Given the description of an element on the screen output the (x, y) to click on. 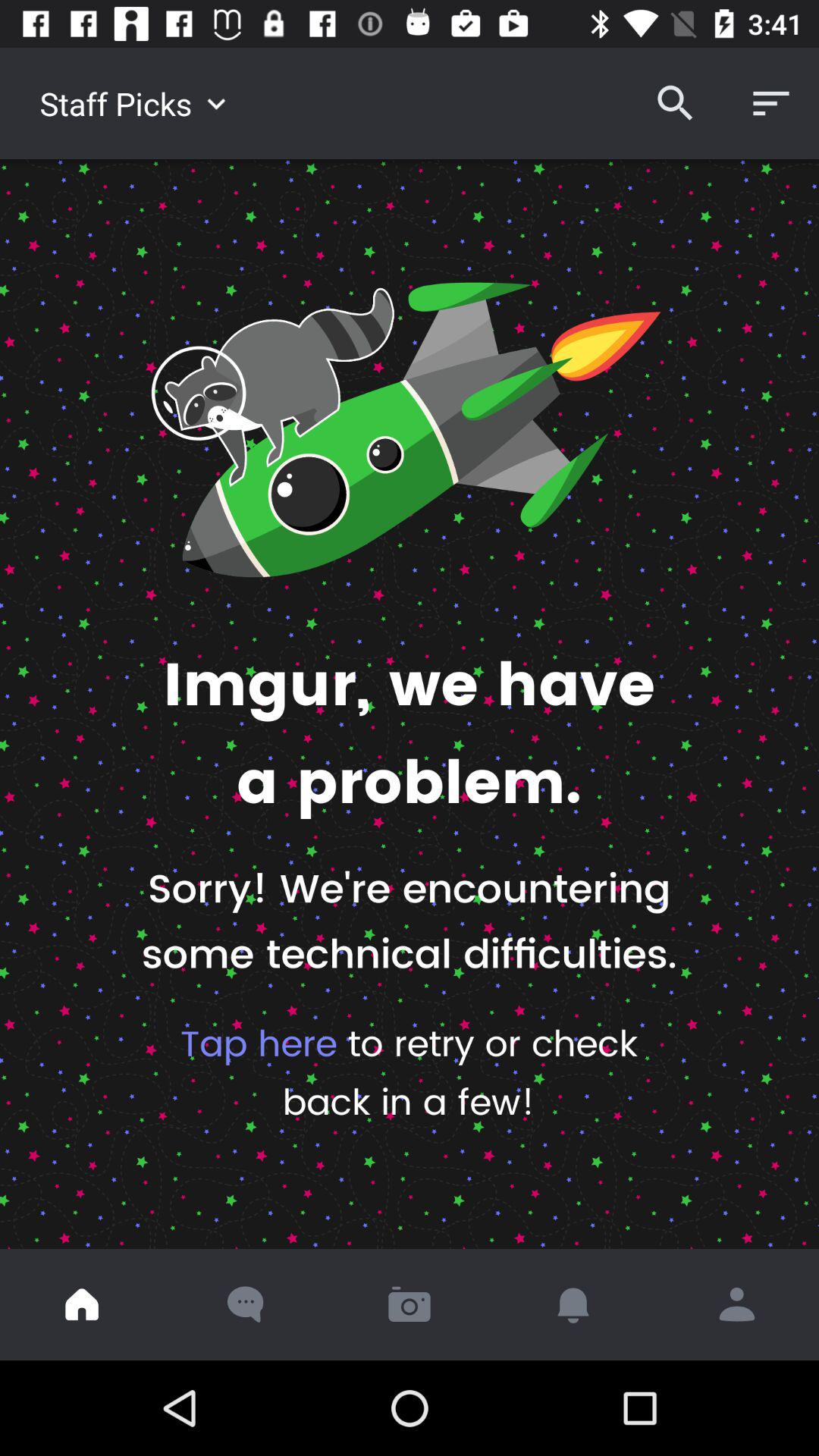
go home (81, 1304)
